Given the description of an element on the screen output the (x, y) to click on. 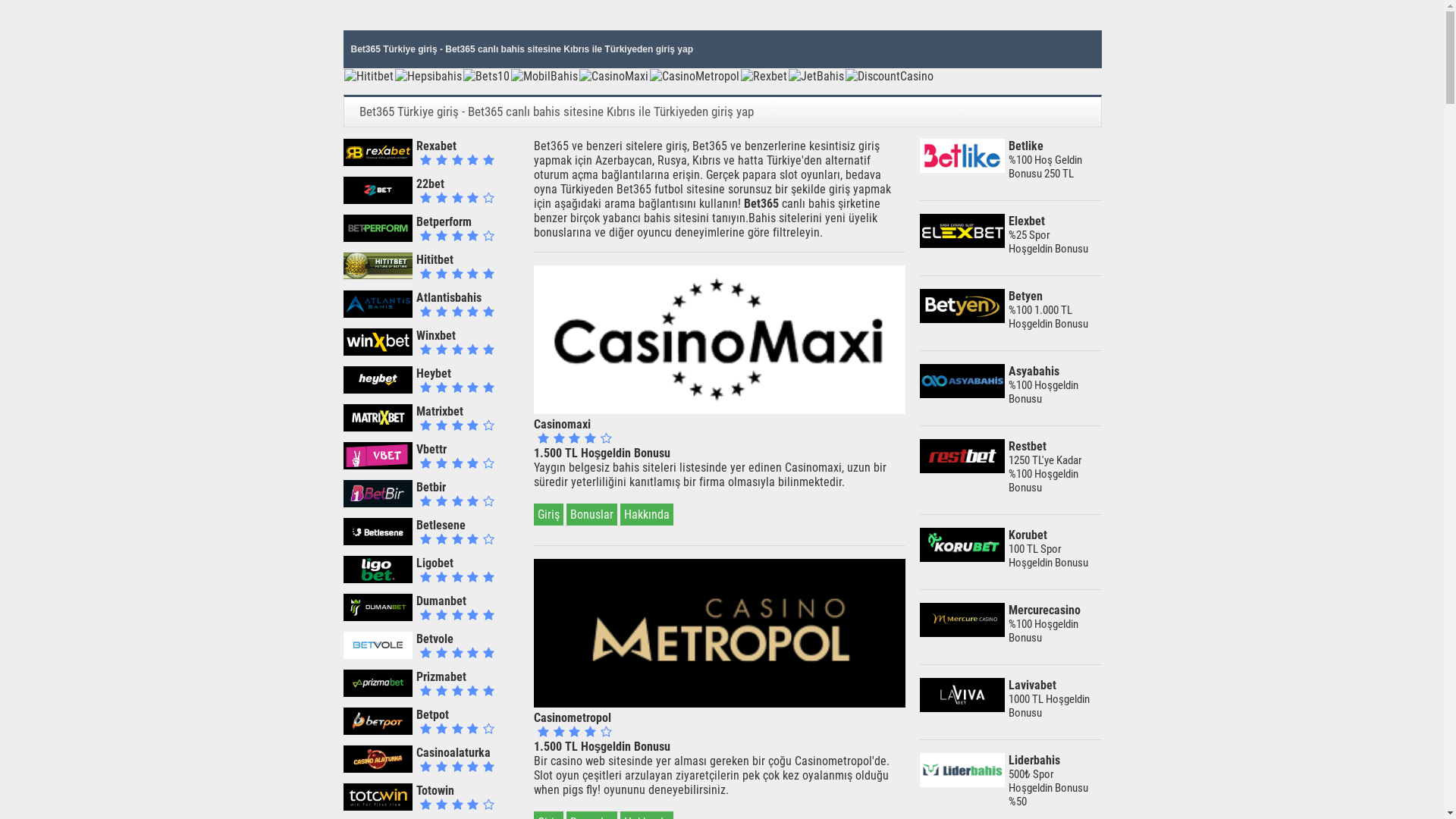
Heybet Element type: hover (376, 389)
Bet365 Element type: text (760, 203)
Betbir Element type: hover (376, 502)
Elexbet Element type: hover (961, 243)
Betvole Element type: hover (376, 654)
CasinoMetropol Element type: hover (693, 76)
Casinometropol Element type: hover (719, 703)
Vbettr Element type: text (431, 449)
Prizmabet Element type: hover (376, 692)
22bet Element type: hover (376, 199)
Betlesene Element type: text (440, 524)
JetBahis Element type: hover (816, 76)
Hititbet Element type: text (434, 259)
Casinoalaturka Element type: hover (376, 768)
Bonuslar Element type: text (590, 514)
Winxbet Element type: text (435, 335)
Prizmabet Element type: text (441, 676)
Hepsibahis Element type: hover (427, 76)
Liderbahis Element type: hover (961, 782)
Betlike Element type: text (1025, 145)
Mercurecasino Element type: hover (961, 632)
CasinoMaxi Element type: hover (613, 76)
MobilBahis Element type: hover (544, 76)
Dumanbet Element type: hover (376, 616)
Matrixbet Element type: text (439, 411)
Betbir Element type: text (430, 487)
DiscountCasino Element type: hover (888, 76)
Restbet Element type: text (1027, 446)
Betvole Element type: text (434, 638)
Ligobet Element type: hover (376, 578)
Betperform Element type: text (443, 221)
Korubet Element type: hover (961, 557)
Casinometropol Element type: text (572, 717)
Bets10 Element type: hover (485, 76)
Betpot Element type: text (432, 714)
Dumanbet Element type: text (441, 600)
Atlantisbahis Element type: text (448, 297)
Hititbet Element type: hover (376, 275)
Elexbet Element type: text (1026, 220)
Betlesene Element type: hover (376, 540)
Betlike Element type: hover (961, 168)
Totowin Element type: hover (376, 806)
Betyen Element type: text (1025, 295)
Restbet Element type: hover (961, 468)
Liderbahis Element type: text (1034, 760)
Casinomaxi Element type: text (561, 424)
Rexabet Element type: hover (376, 161)
Rexabet Element type: text (436, 145)
Heybet Element type: text (433, 373)
Casinoalaturka Element type: text (453, 752)
Casinomaxi Element type: hover (719, 409)
Asyabahis Element type: hover (961, 393)
Asyabahis Element type: text (1033, 371)
Matrixbet Element type: hover (376, 427)
Korubet Element type: text (1027, 534)
Lavivabet Element type: text (1032, 684)
Mercurecasino Element type: text (1044, 609)
Lavivabet Element type: hover (961, 707)
Ligobet Element type: text (434, 562)
Winxbet Element type: hover (376, 351)
Betperform Element type: hover (376, 237)
Totowin Element type: text (435, 790)
Betyen Element type: hover (961, 318)
Hititbet Element type: hover (368, 76)
Betpot Element type: hover (376, 730)
Vbettr Element type: hover (376, 465)
22bet Element type: text (430, 183)
Rexbet Element type: hover (763, 76)
Atlantisbahis Element type: hover (376, 313)
